Given the description of an element on the screen output the (x, y) to click on. 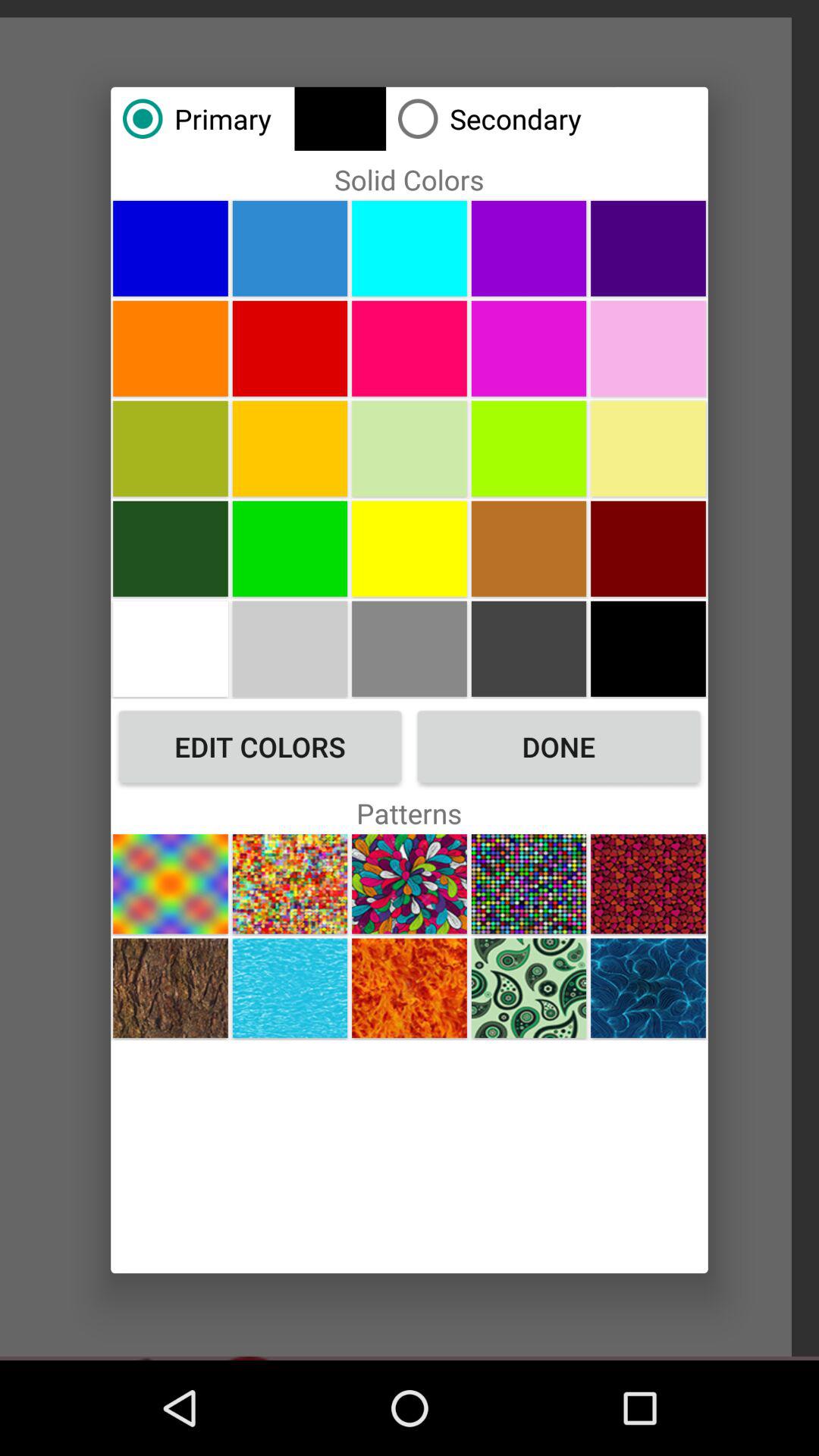
select color (409, 248)
